Given the description of an element on the screen output the (x, y) to click on. 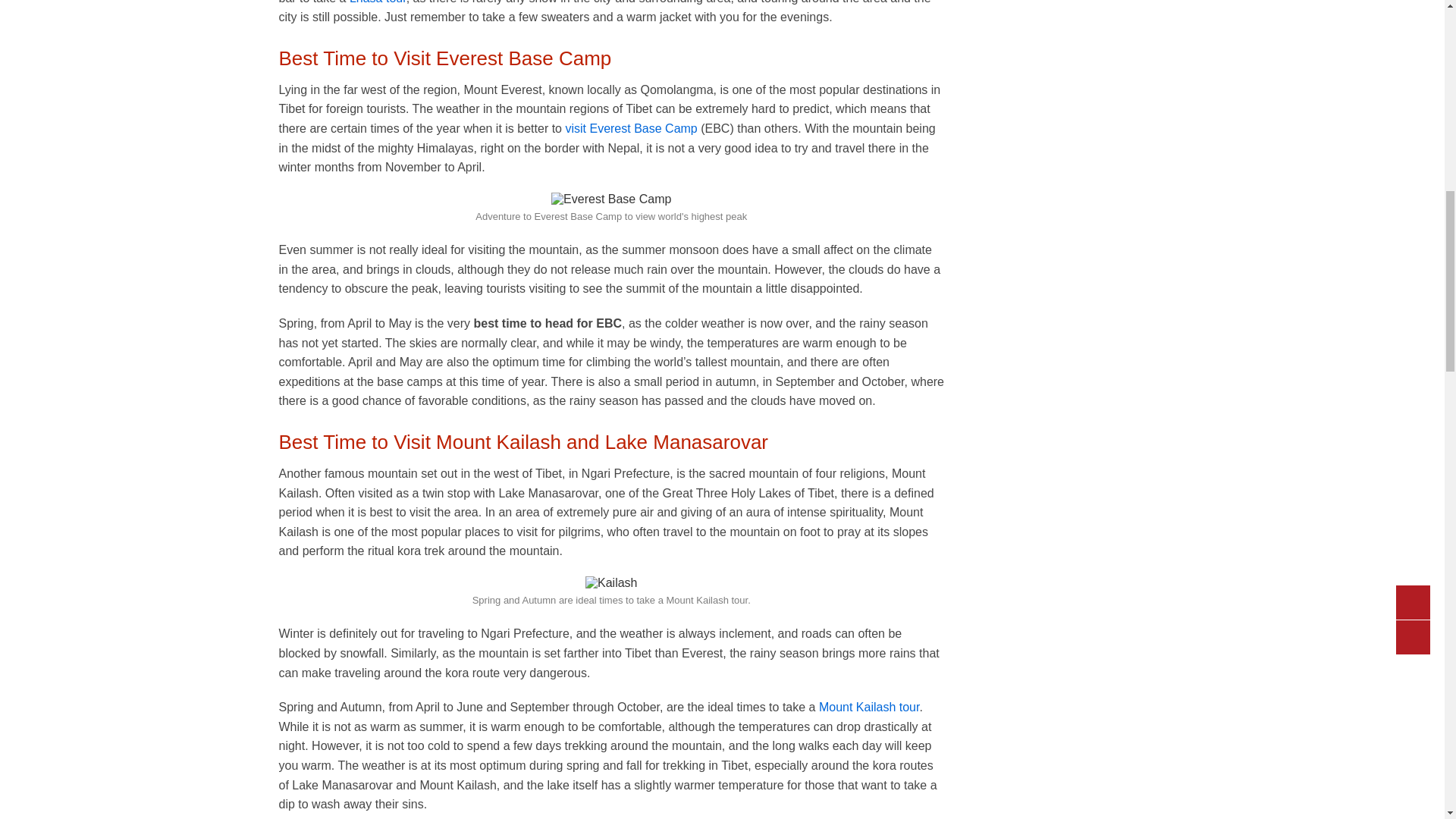
Kailash (611, 582)
Everest Base Camp (611, 199)
